Given the description of an element on the screen output the (x, y) to click on. 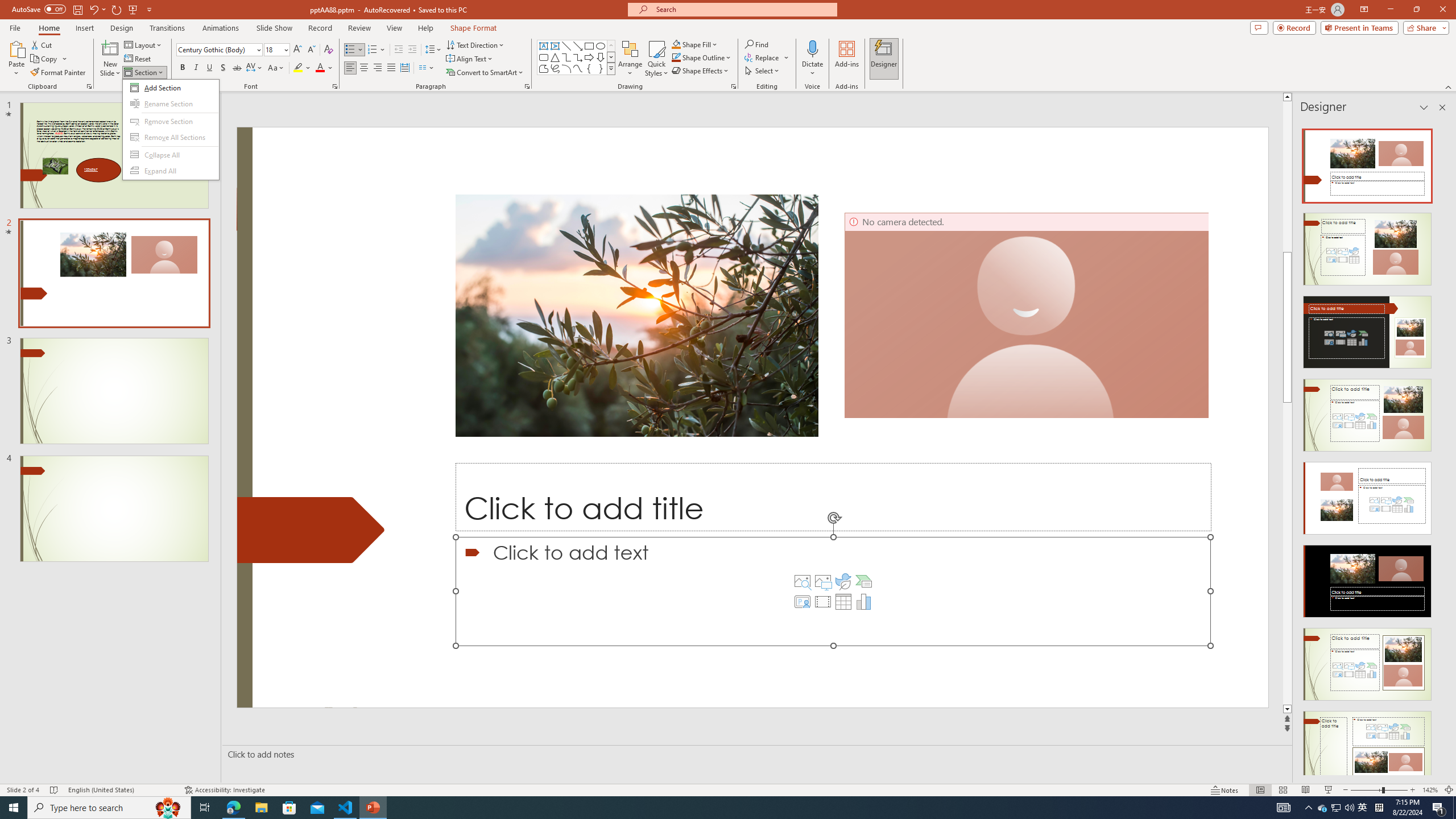
Decorative Locked (310, 530)
